Given the description of an element on the screen output the (x, y) to click on. 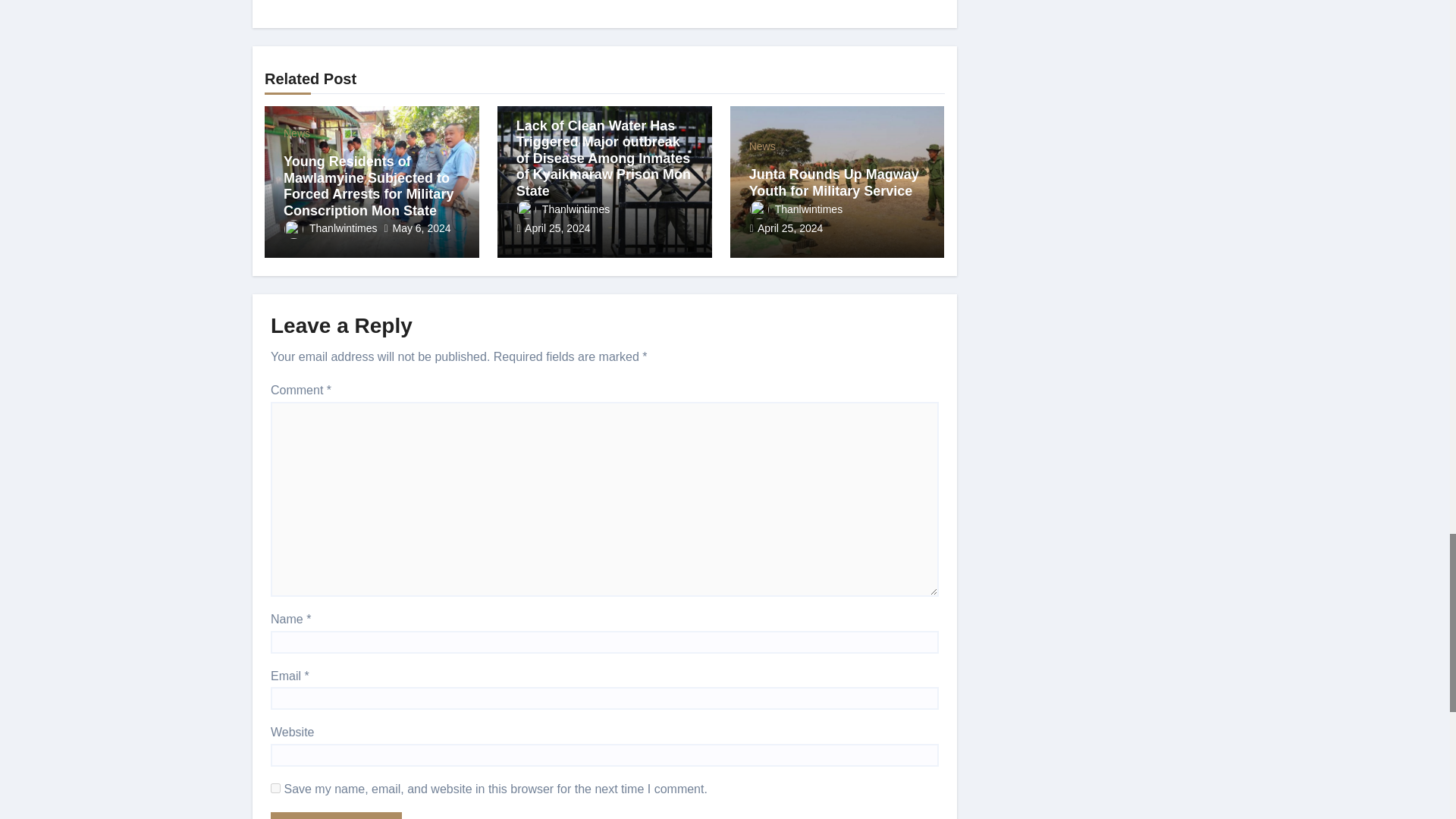
yes (275, 787)
Post Comment (335, 815)
